Given the description of an element on the screen output the (x, y) to click on. 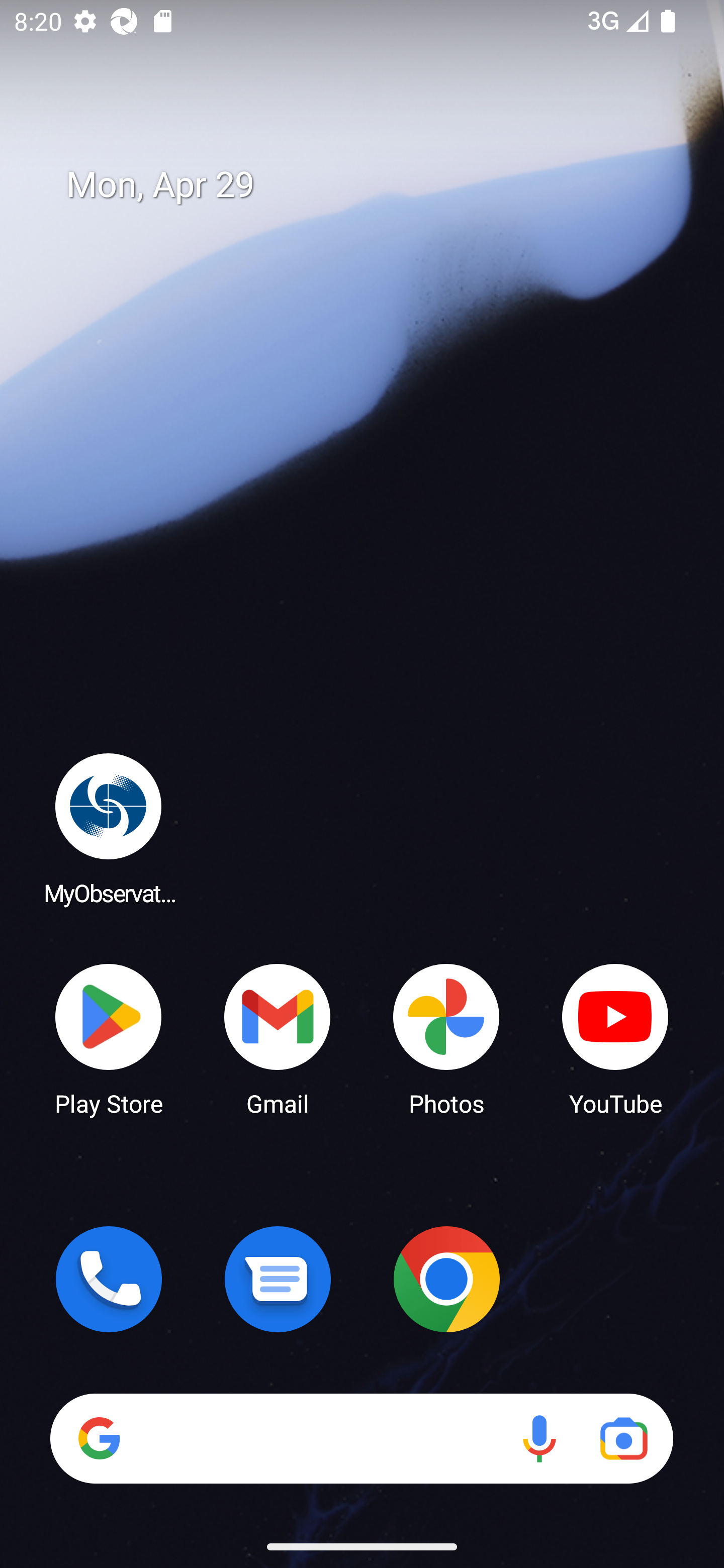
Mon, Apr 29 (375, 184)
MyObservatory (108, 828)
Play Store (108, 1038)
Gmail (277, 1038)
Photos (445, 1038)
YouTube (615, 1038)
Phone (108, 1279)
Messages (277, 1279)
Chrome (446, 1279)
Voice search (539, 1438)
Google Lens (623, 1438)
